Given the description of an element on the screen output the (x, y) to click on. 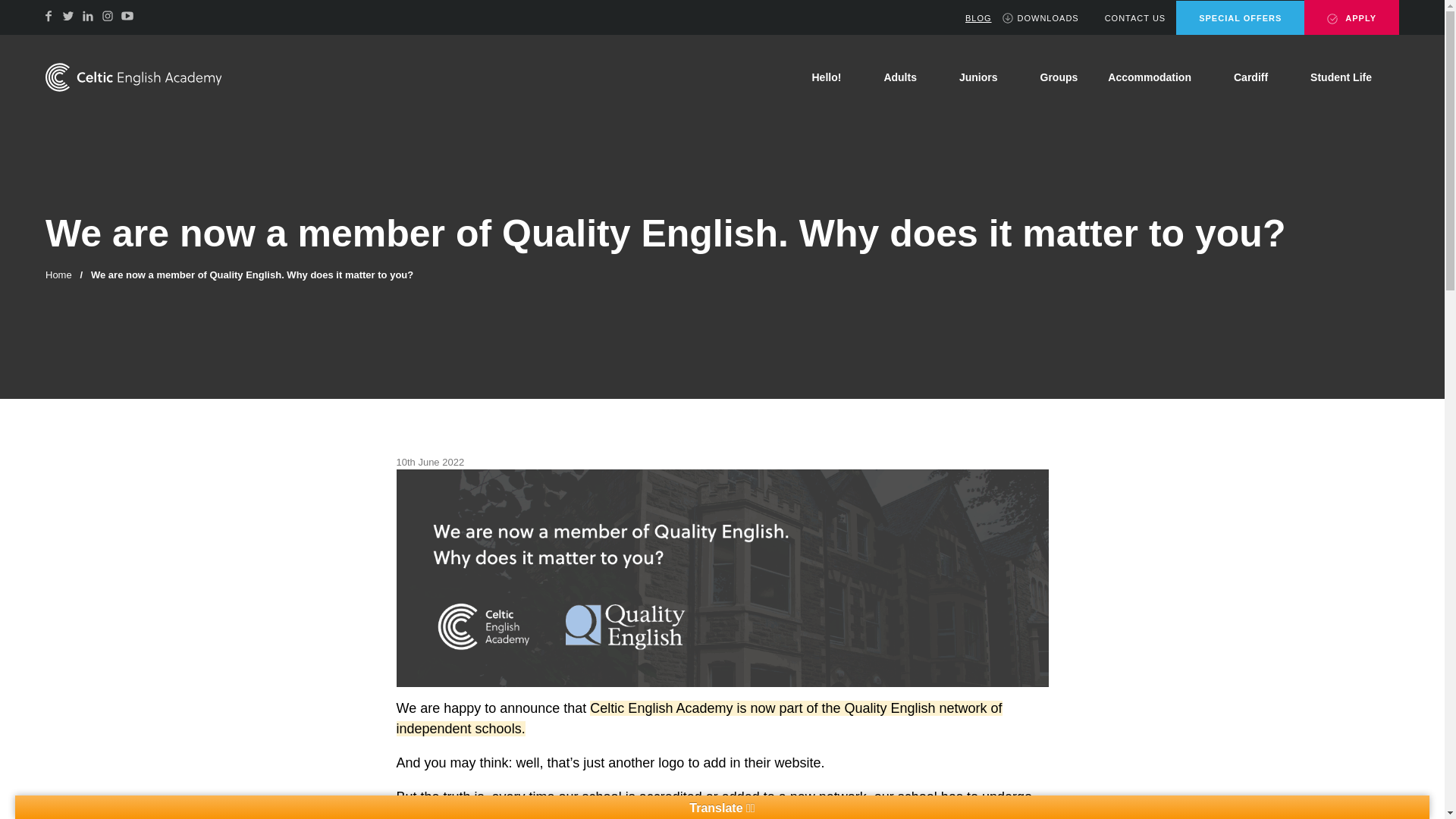
Find us on LinkedIn (87, 15)
SPECIAL OFFERS (1240, 17)
Find us on YouTube (126, 15)
Find us on LinkedIn (87, 15)
BLOG (970, 18)
CONTACT US (1127, 18)
Hello! (831, 77)
Adults (906, 77)
Find us on Facebook (48, 15)
Find us on Twitter (68, 15)
Celtic English Academy (133, 76)
Find us on Twitter (68, 15)
Find us on Instagram (107, 15)
Find us on YouTube (126, 15)
DOWNLOADS (1040, 18)
